Given the description of an element on the screen output the (x, y) to click on. 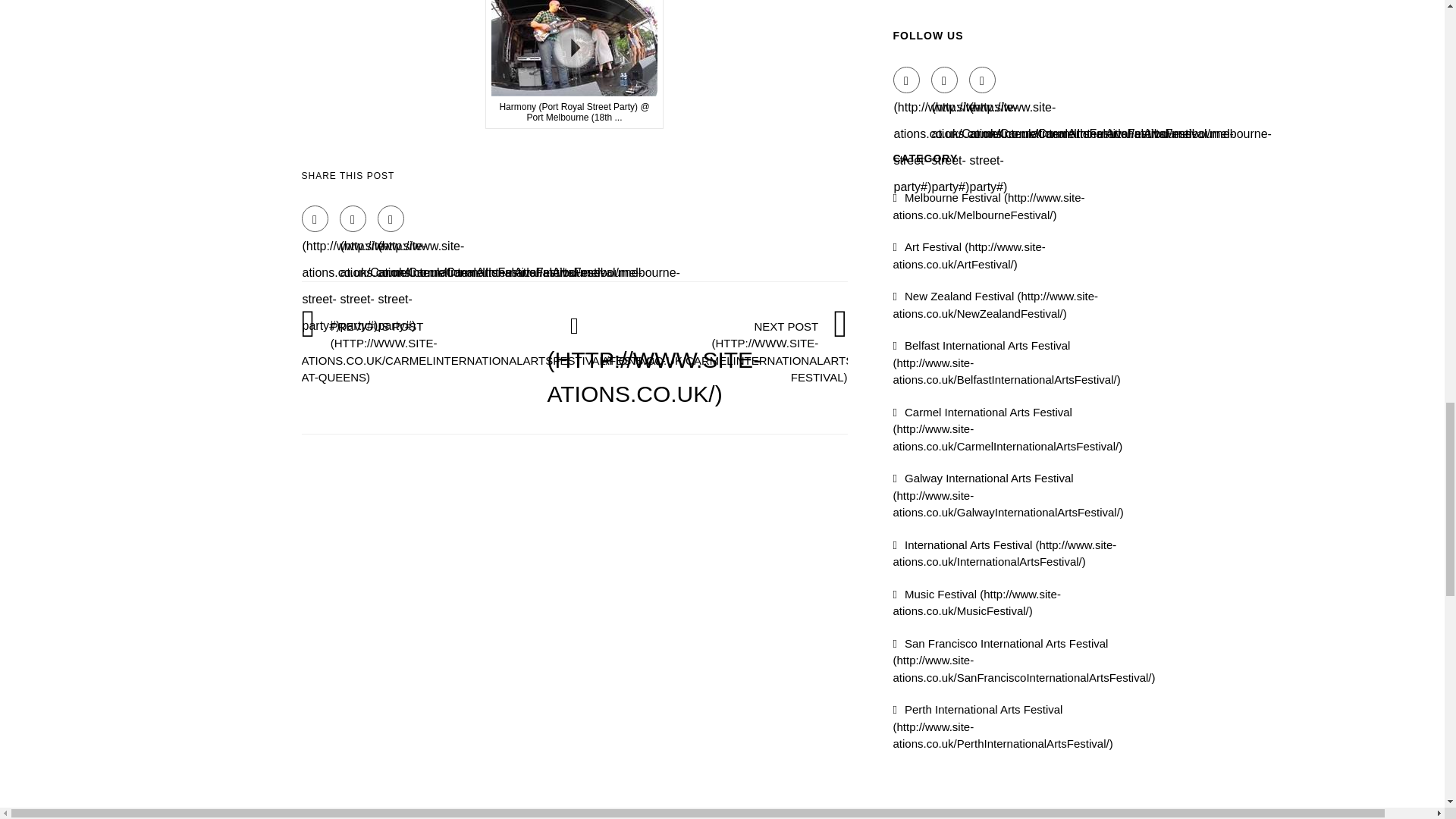
View all posts filed under Melbourne Festival (988, 205)
Google Plus (982, 79)
View all posts filed under Music Festival (977, 602)
View all posts filed under New Zealand Festival (996, 304)
Facebook (315, 218)
NEXT POST (781, 351)
Google Plus (390, 218)
Twitter (352, 218)
Twitter (944, 79)
